Given the description of an element on the screen output the (x, y) to click on. 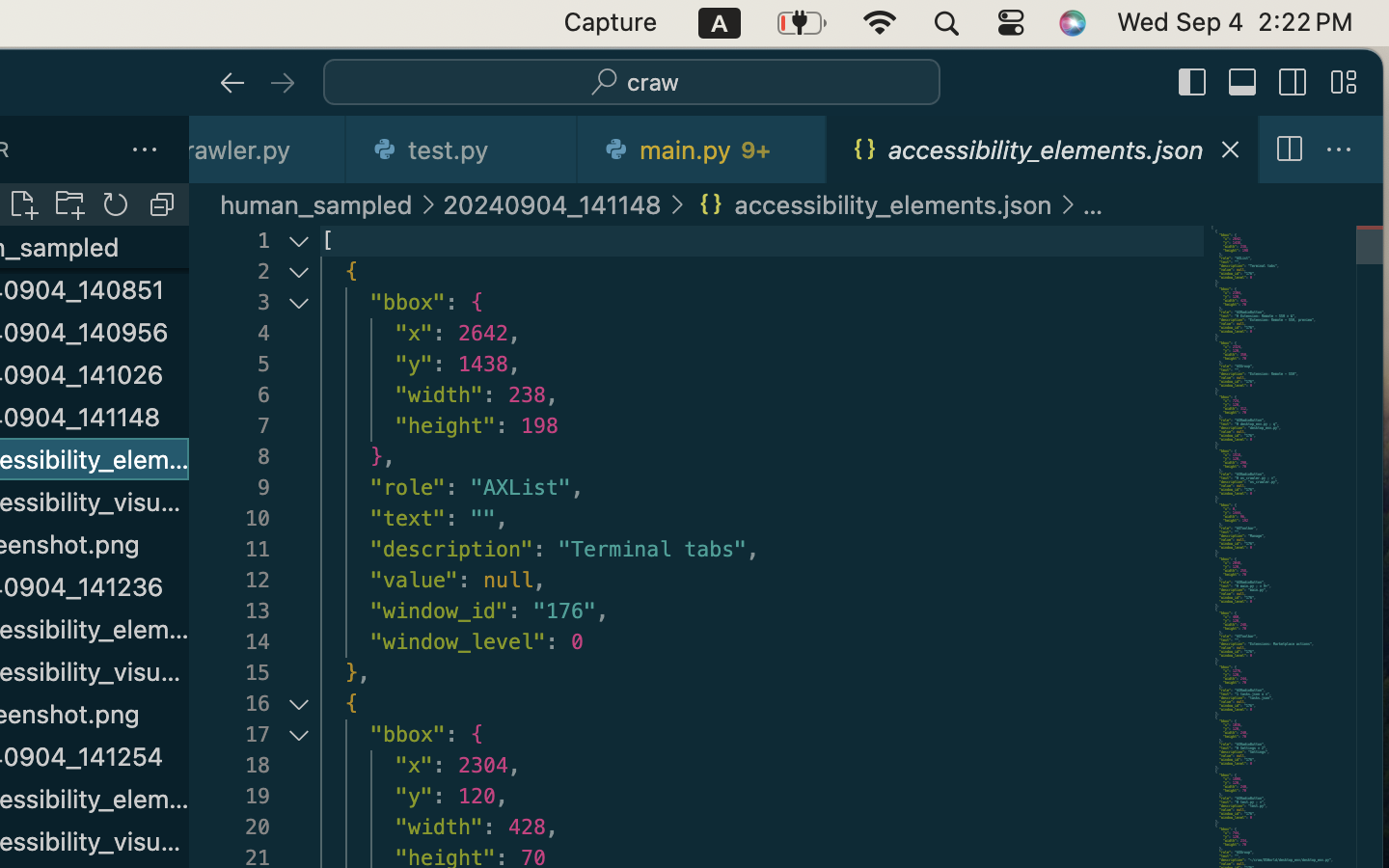
human_sampled Element type: AXGroup (315, 204)
 Element type: AXButton (282, 82)
1 accessibility_elements.json   Element type: AXRadioButton (1042, 149)
 Element type: AXCheckBox (1193, 82)
0 main.py   9+ Element type: AXRadioButton (702, 149)
